Given the description of an element on the screen output the (x, y) to click on. 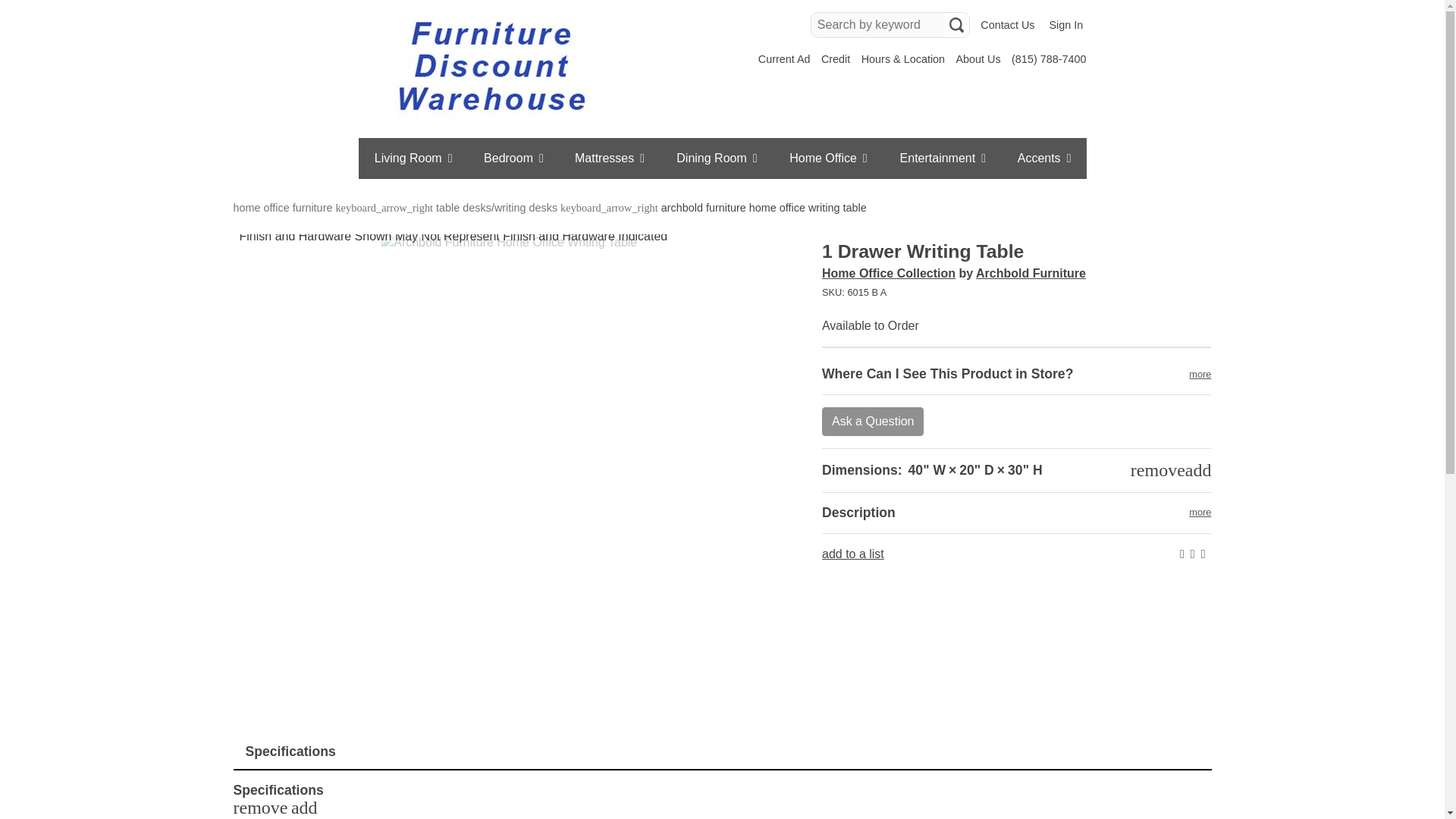
Living Room (412, 158)
Sign In (1065, 25)
Credit (835, 59)
About Us (977, 59)
Current Ad (784, 59)
Contact Us (1007, 25)
6015 B A (1016, 292)
Bedroom (513, 158)
